Given the description of an element on the screen output the (x, y) to click on. 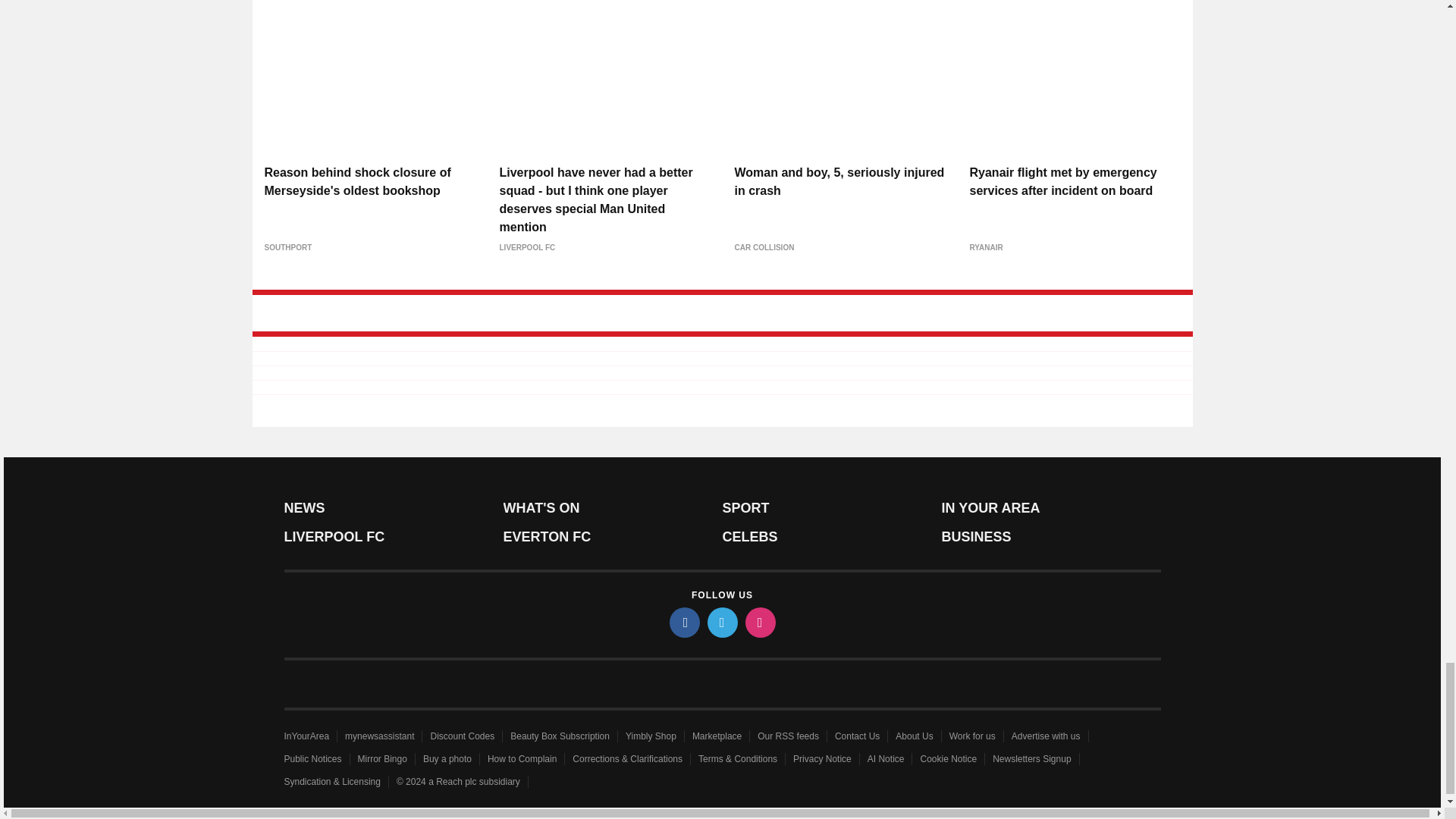
twitter (721, 622)
facebook (683, 622)
instagram (759, 622)
